Given the description of an element on the screen output the (x, y) to click on. 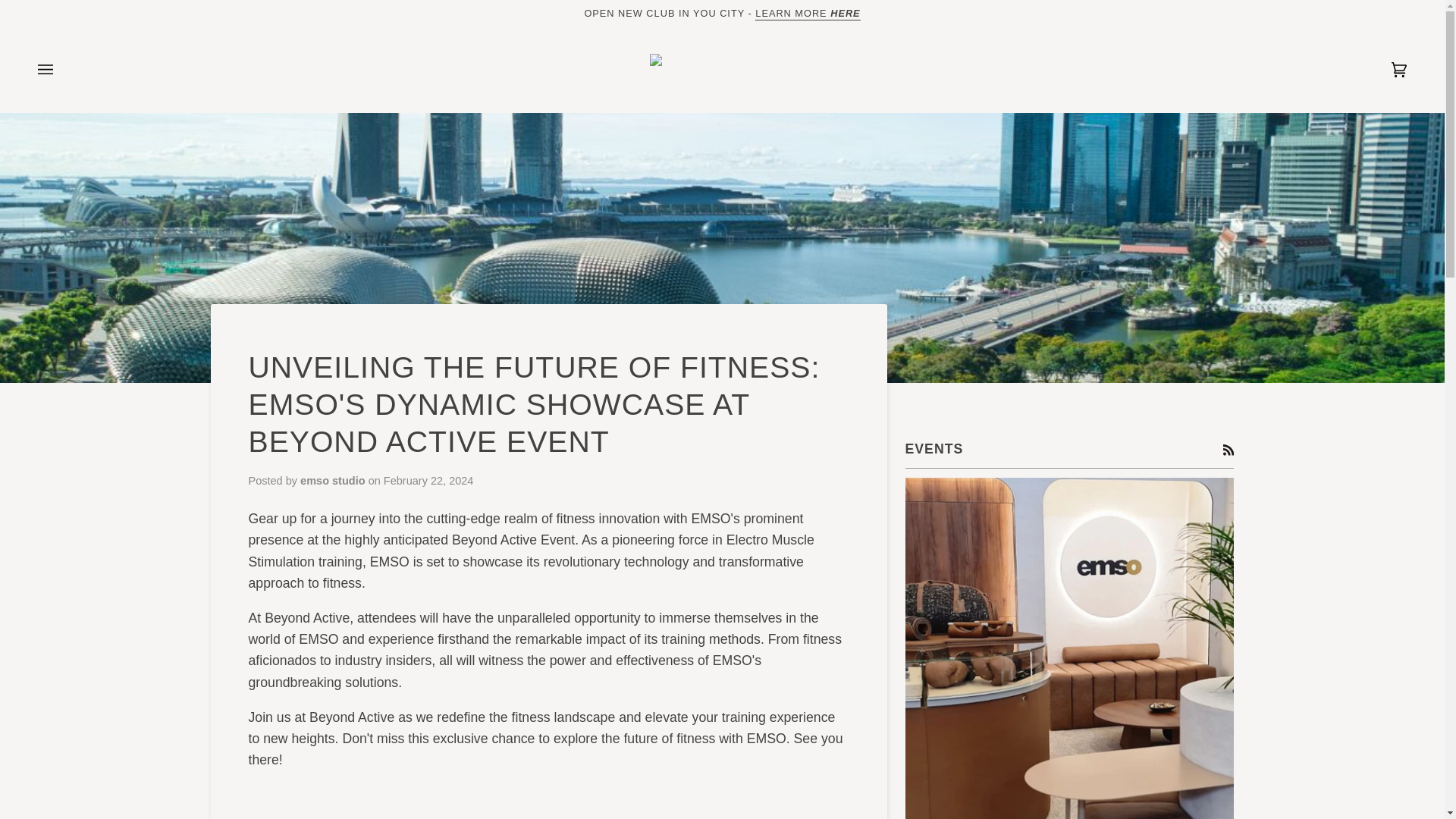
FRANCHISE (807, 12)
LEARN MORE HERE (807, 12)
